Given the description of an element on the screen output the (x, y) to click on. 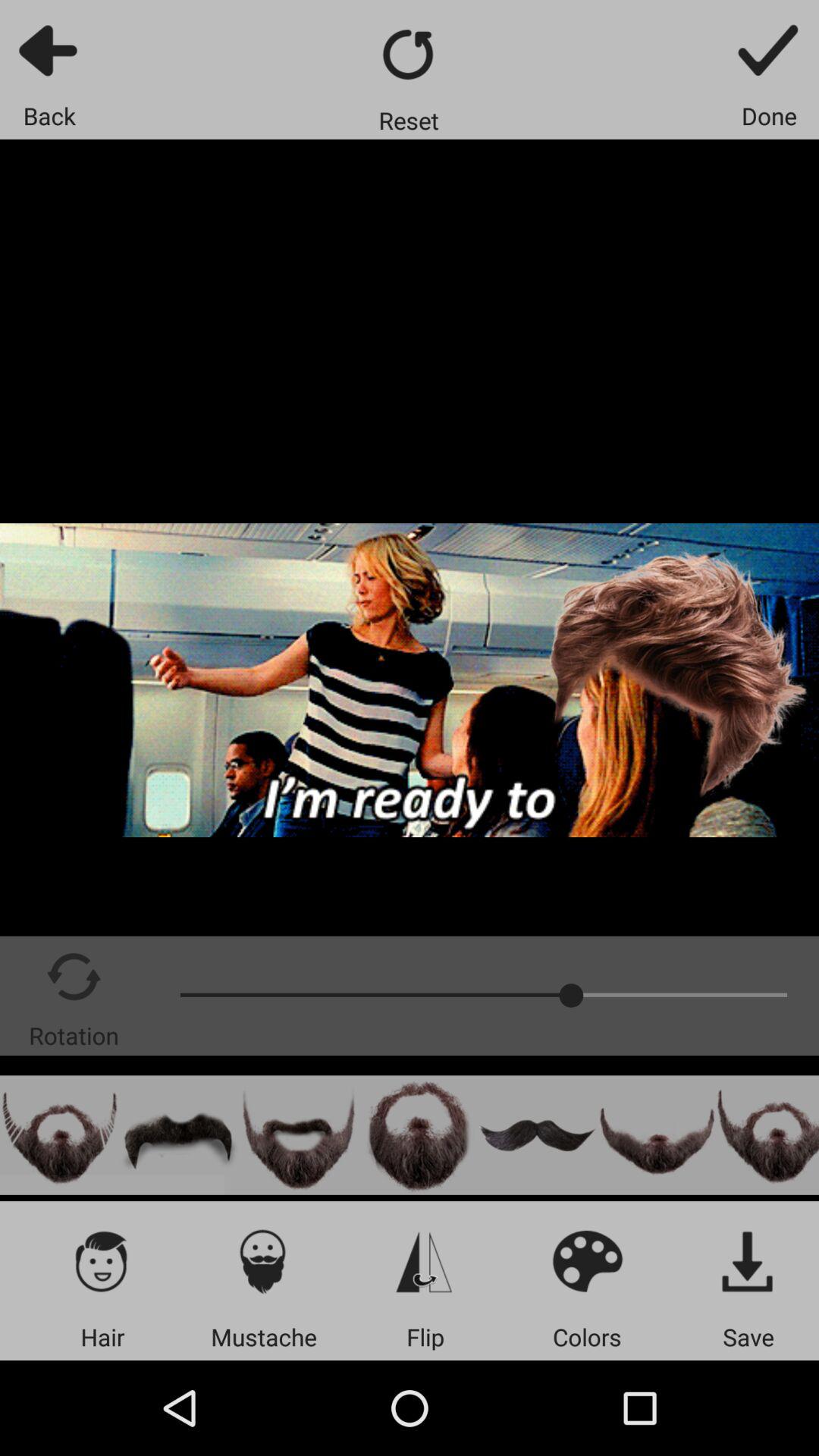
choose the icon above the mustache app (263, 1260)
